Given the description of an element on the screen output the (x, y) to click on. 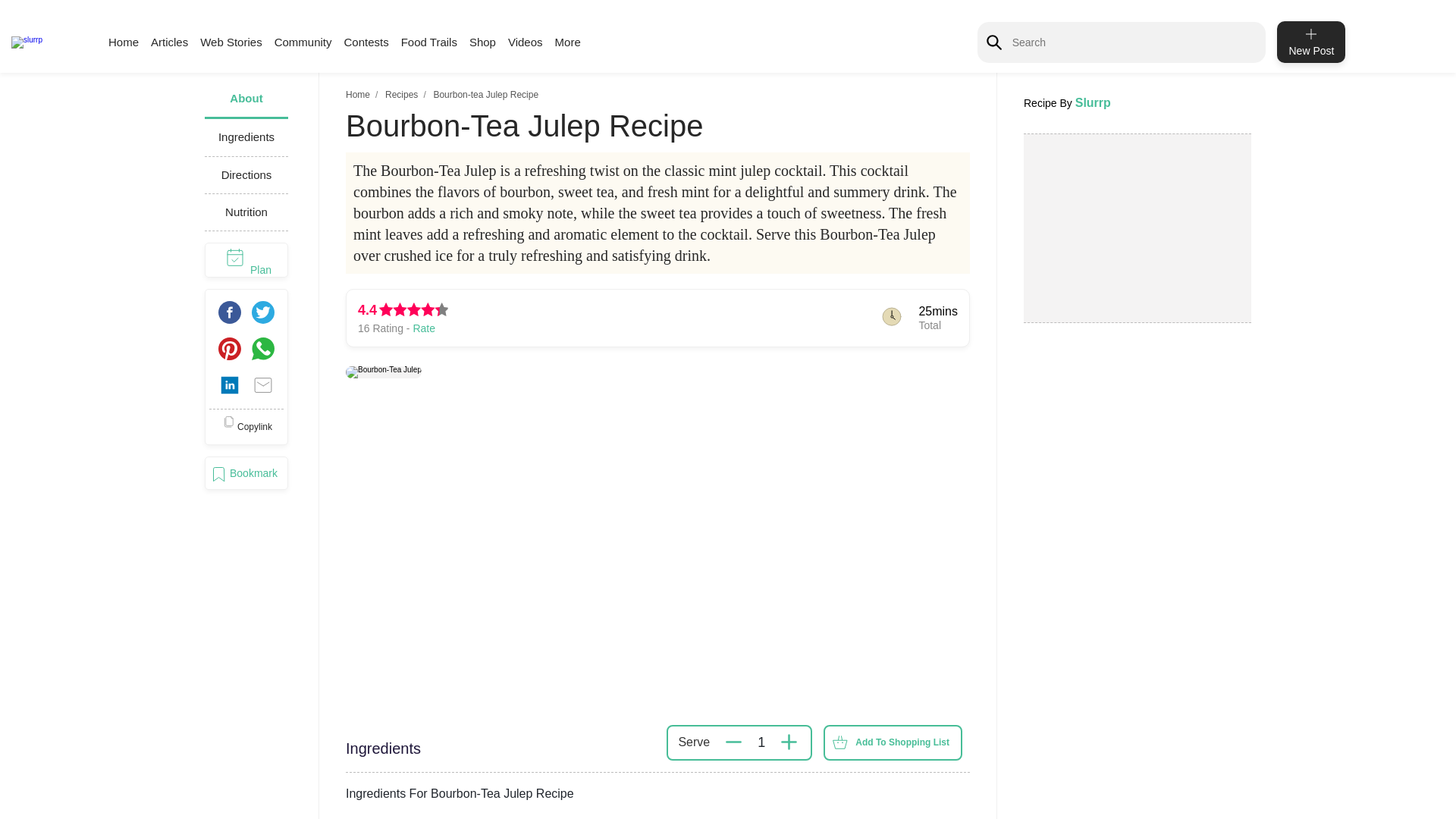
Contests (365, 42)
Articles (169, 42)
Bourbon-Tea Julep (384, 372)
New Post (1310, 42)
Food Trails (429, 42)
Videos (525, 42)
Shop (482, 42)
Web Stories (231, 42)
Home (122, 42)
Copylink (246, 426)
